Given the description of an element on the screen output the (x, y) to click on. 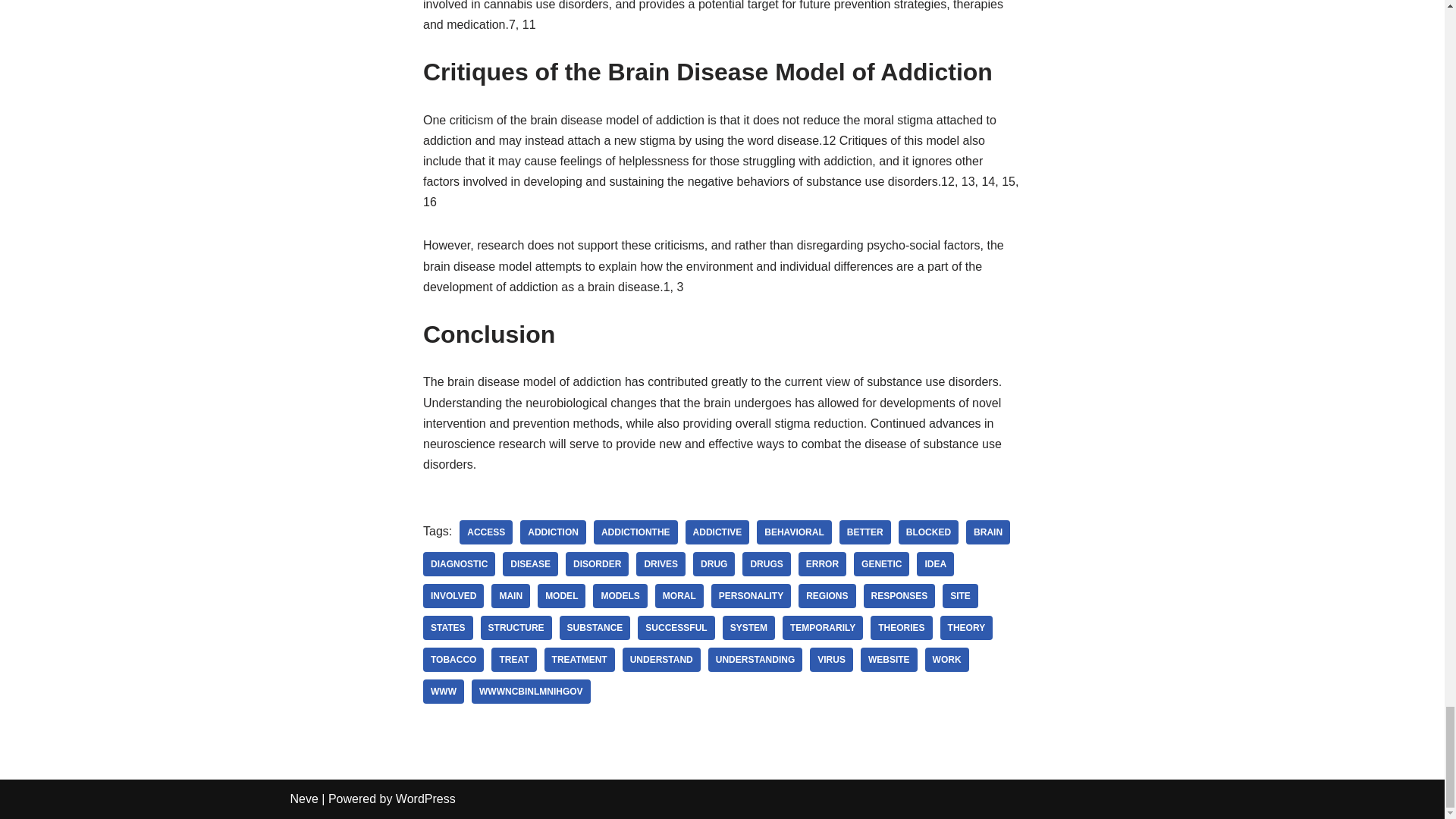
DIAGNOSTIC (459, 564)
SITE (960, 595)
MORAL (679, 595)
BLOCKED (928, 532)
IDEA (935, 564)
MAIN (510, 595)
ERROR (821, 564)
better (865, 532)
ACCESS (486, 532)
RESPONSES (898, 595)
ADDICTIVE (717, 532)
addiction (552, 532)
addictive (717, 532)
blocked (928, 532)
DRUG (714, 564)
